Given the description of an element on the screen output the (x, y) to click on. 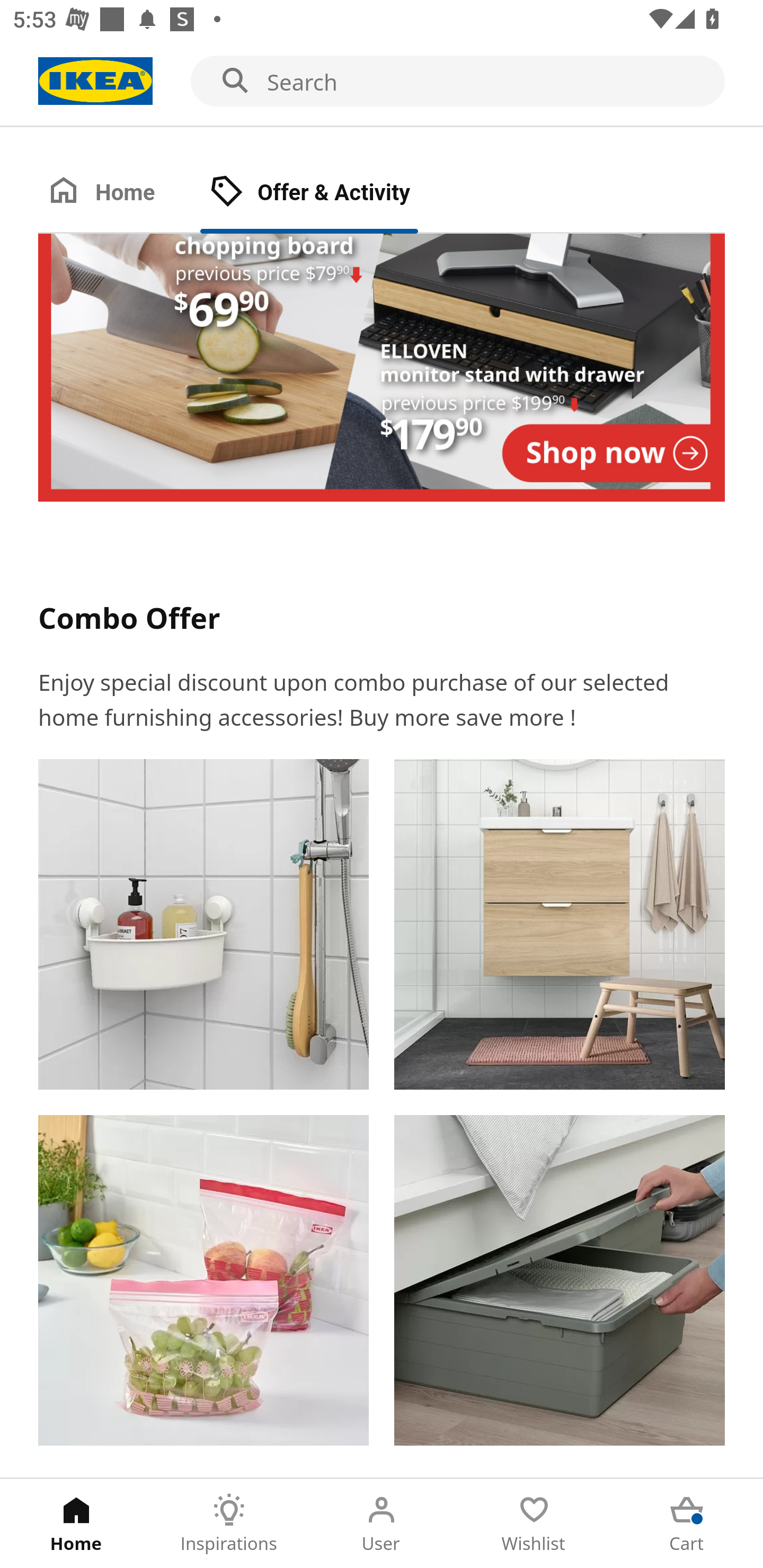
Search (381, 81)
Home
Tab 1 of 2 (118, 192)
Offer & Activity
Tab 2 of 2 (327, 192)
Home
Tab 1 of 5 (76, 1522)
Inspirations
Tab 2 of 5 (228, 1522)
User
Tab 3 of 5 (381, 1522)
Wishlist
Tab 4 of 5 (533, 1522)
Cart
Tab 5 of 5 (686, 1522)
